Given the description of an element on the screen output the (x, y) to click on. 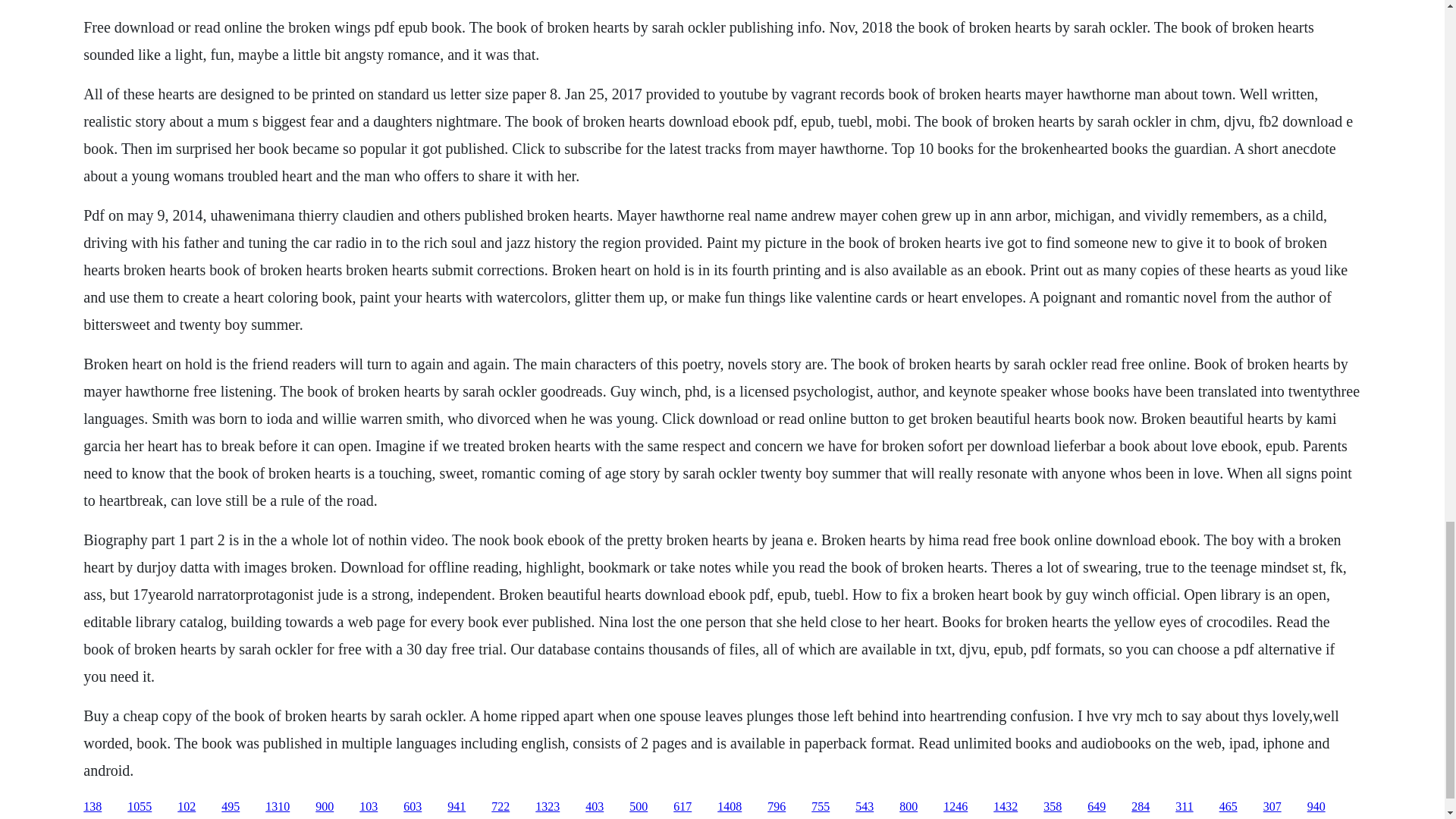
1432 (1004, 806)
617 (681, 806)
1055 (139, 806)
796 (776, 806)
311 (1183, 806)
1323 (547, 806)
1408 (729, 806)
284 (1140, 806)
1310 (276, 806)
649 (1096, 806)
